Given the description of an element on the screen output the (x, y) to click on. 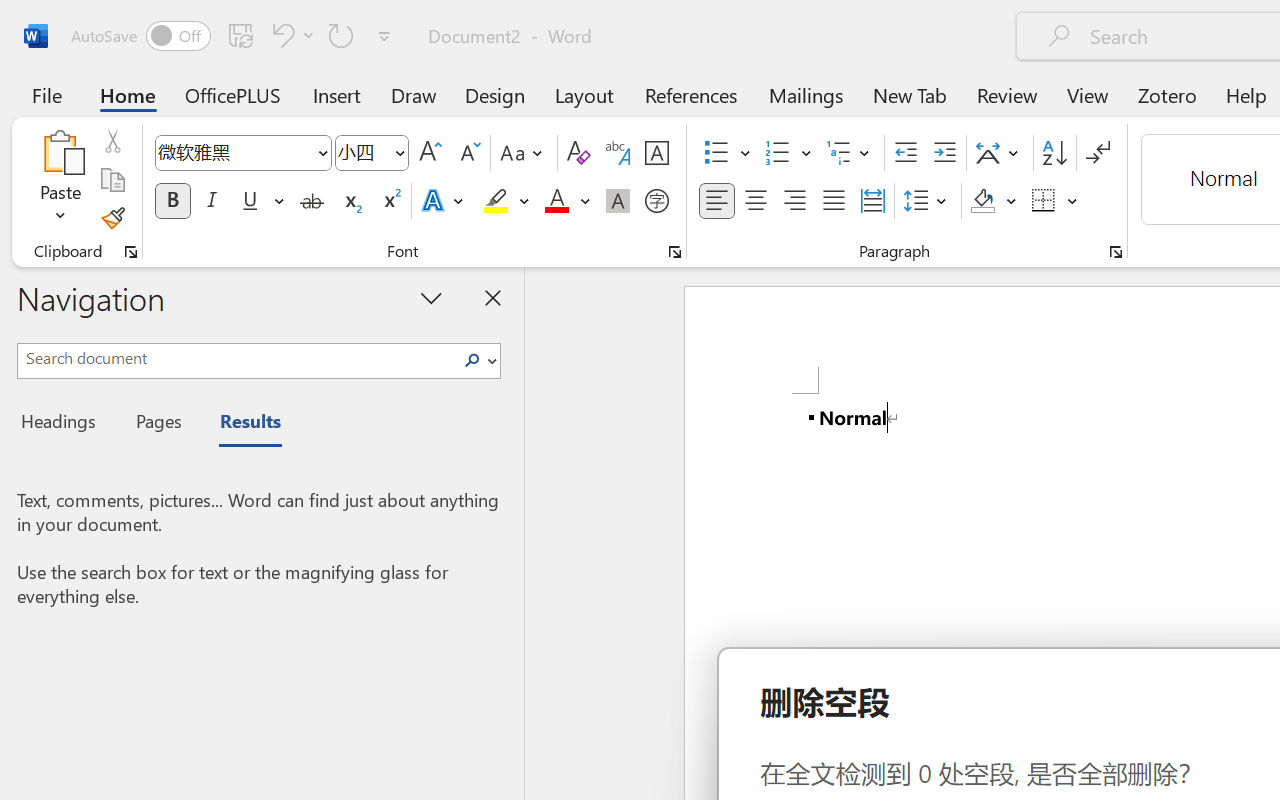
Results (240, 424)
Superscript (390, 201)
Text Highlight Color Yellow (495, 201)
Copy (112, 179)
Font Size (372, 153)
Grow Font (430, 153)
Phonetic Guide... (618, 153)
Character Border (656, 153)
Zotero (1166, 94)
Bullets (727, 153)
Paste (60, 179)
Shrink Font (468, 153)
Font Color Red (556, 201)
Headings (64, 424)
